Given the description of an element on the screen output the (x, y) to click on. 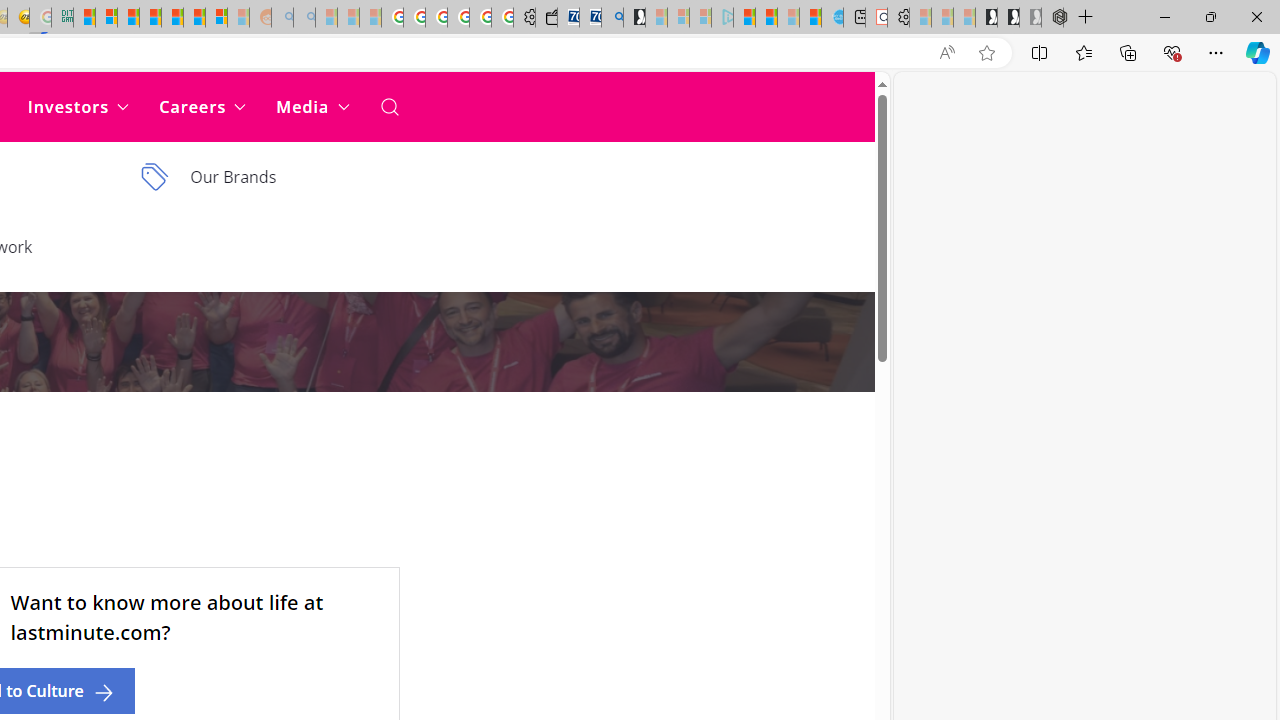
Kinda Frugal - MSN (194, 17)
Utah sues federal government - Search - Sleeping (304, 17)
Bing Real Estate - Home sales and rental listings (612, 17)
Play Free Online Games | Games from Microsoft Start (986, 17)
